Given the description of an element on the screen output the (x, y) to click on. 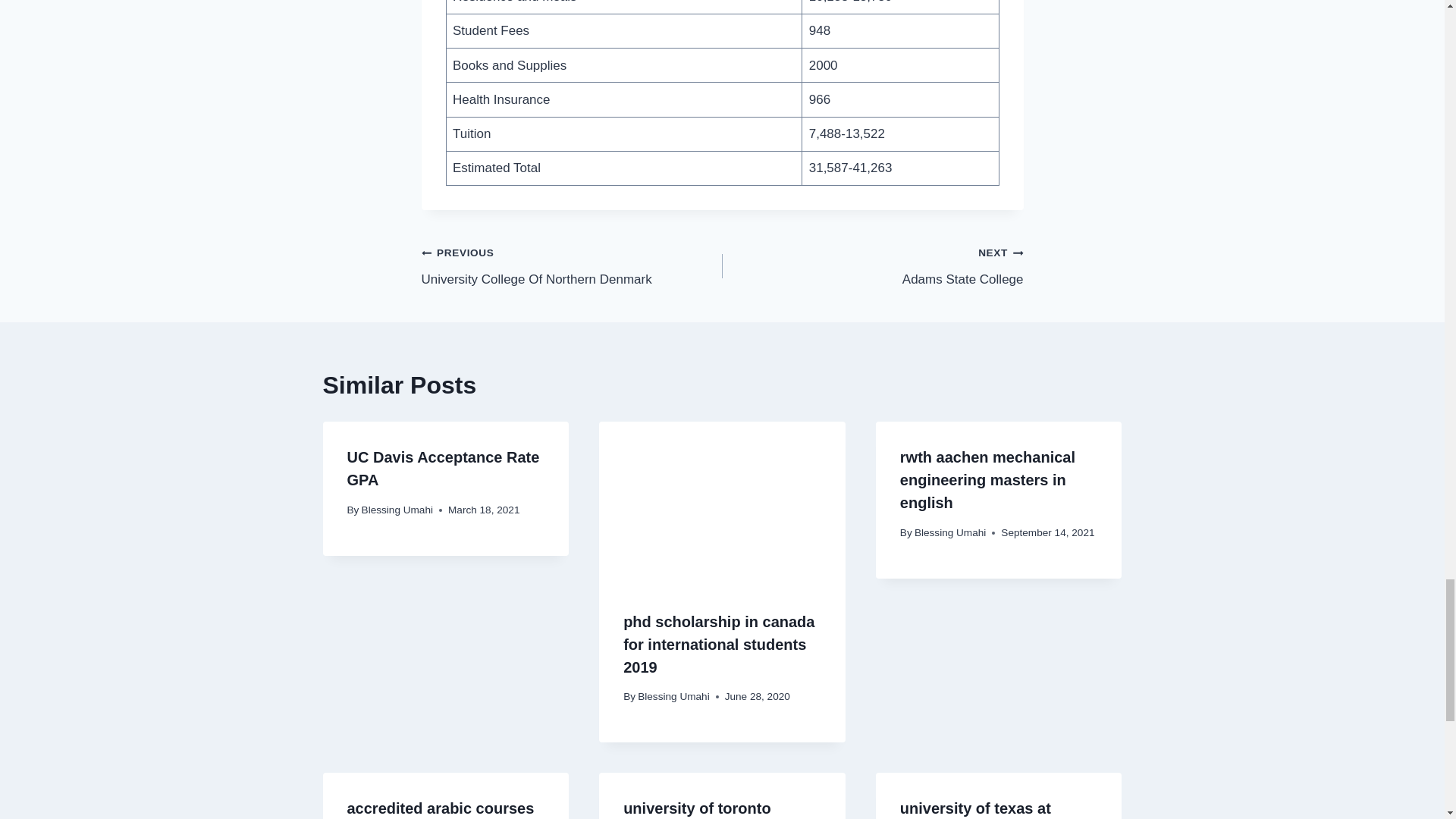
UC Davis Acceptance Rate GPA (872, 265)
Blessing Umahi (443, 468)
Blessing Umahi (572, 265)
rwth aachen mechanical engineering masters in english (673, 696)
Blessing Umahi (949, 532)
phd scholarship in canada for international students 2019 (987, 479)
